Given the description of an element on the screen output the (x, y) to click on. 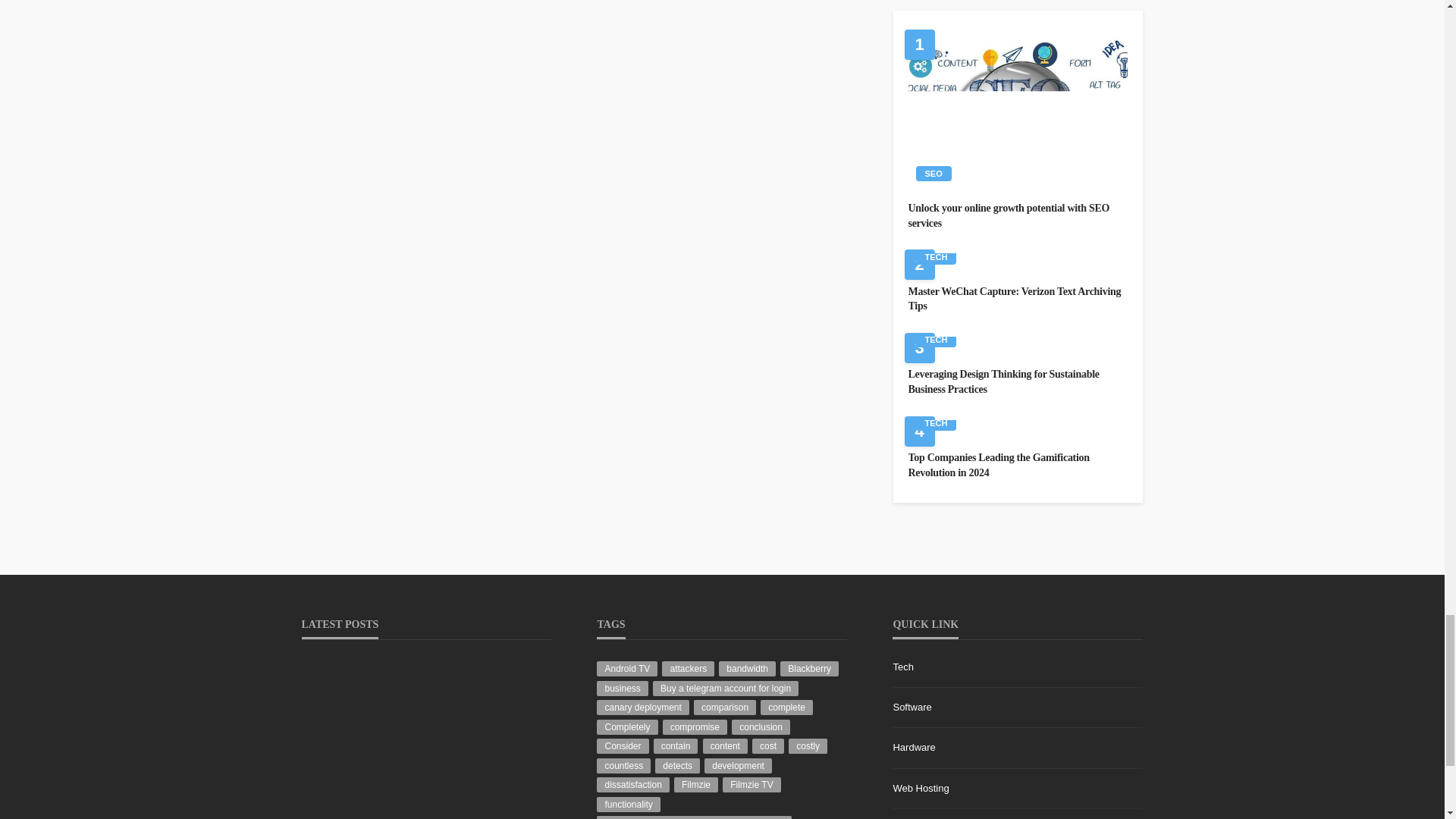
SEO (933, 173)
Unlock your online growth potential with SEO services (1018, 108)
